Given the description of an element on the screen output the (x, y) to click on. 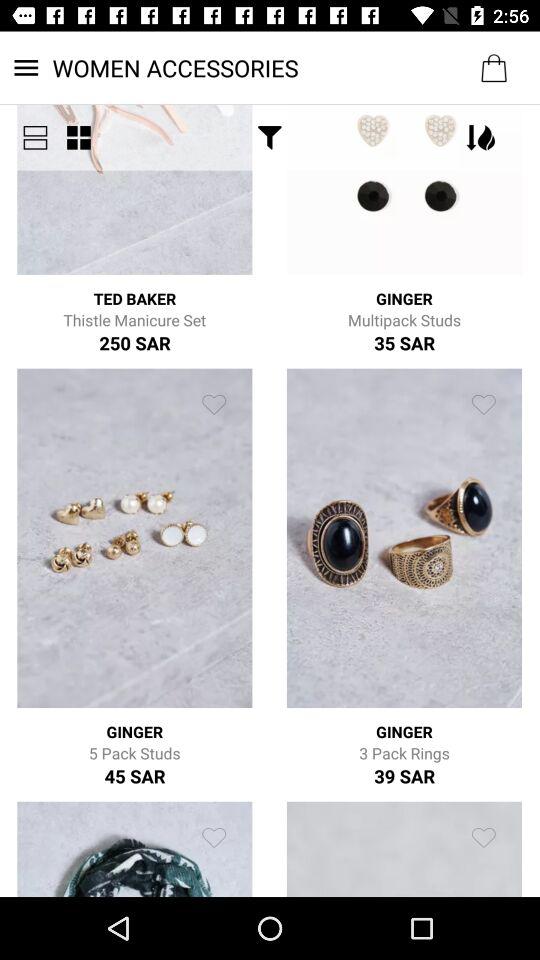
turn off icon next to the women accessories icon (35, 137)
